Given the description of an element on the screen output the (x, y) to click on. 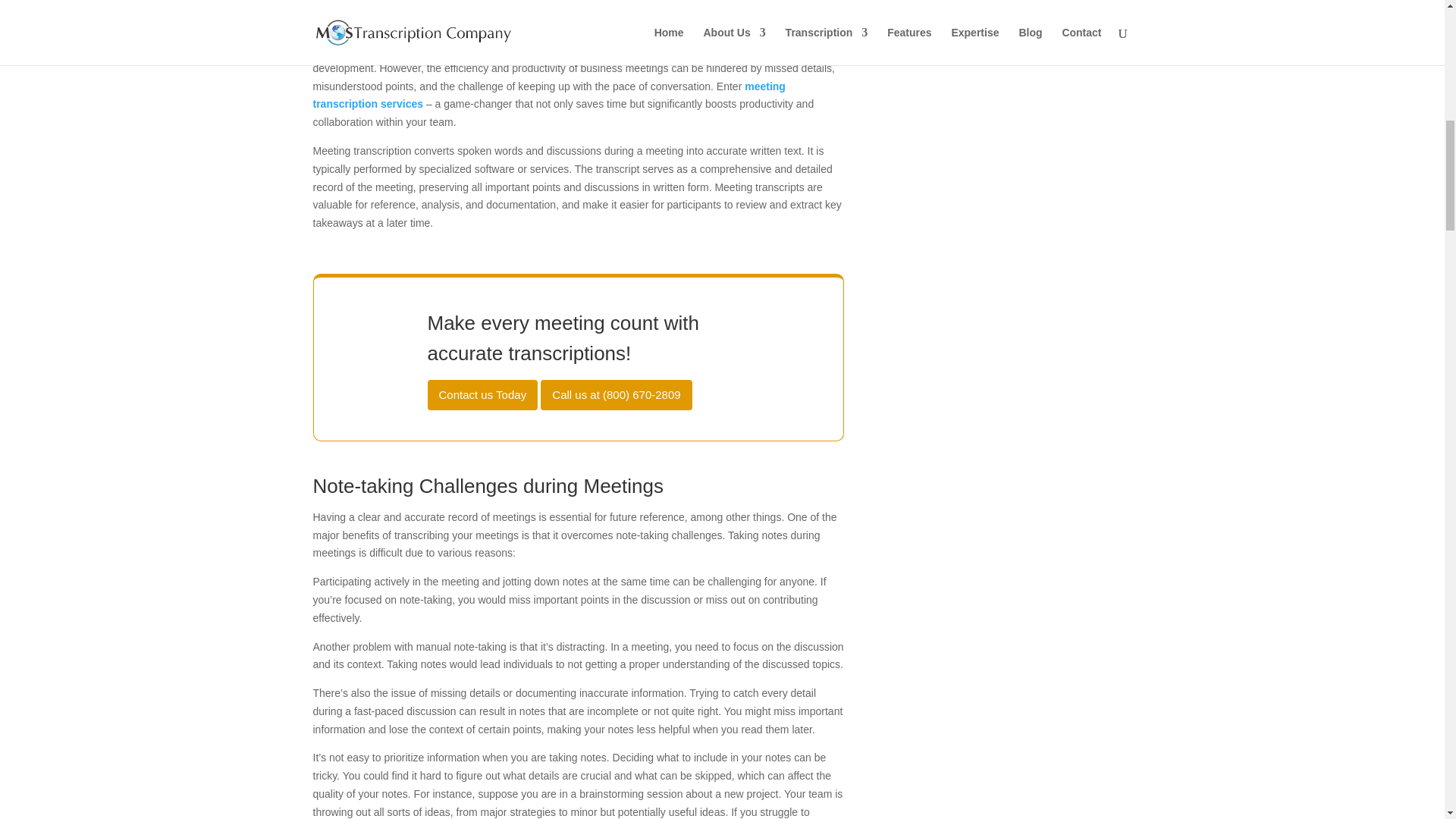
Contact us Today (483, 395)
Meeting Transcription Services (548, 95)
Note-taking Challenges during Meetings (578, 489)
